Given the description of an element on the screen output the (x, y) to click on. 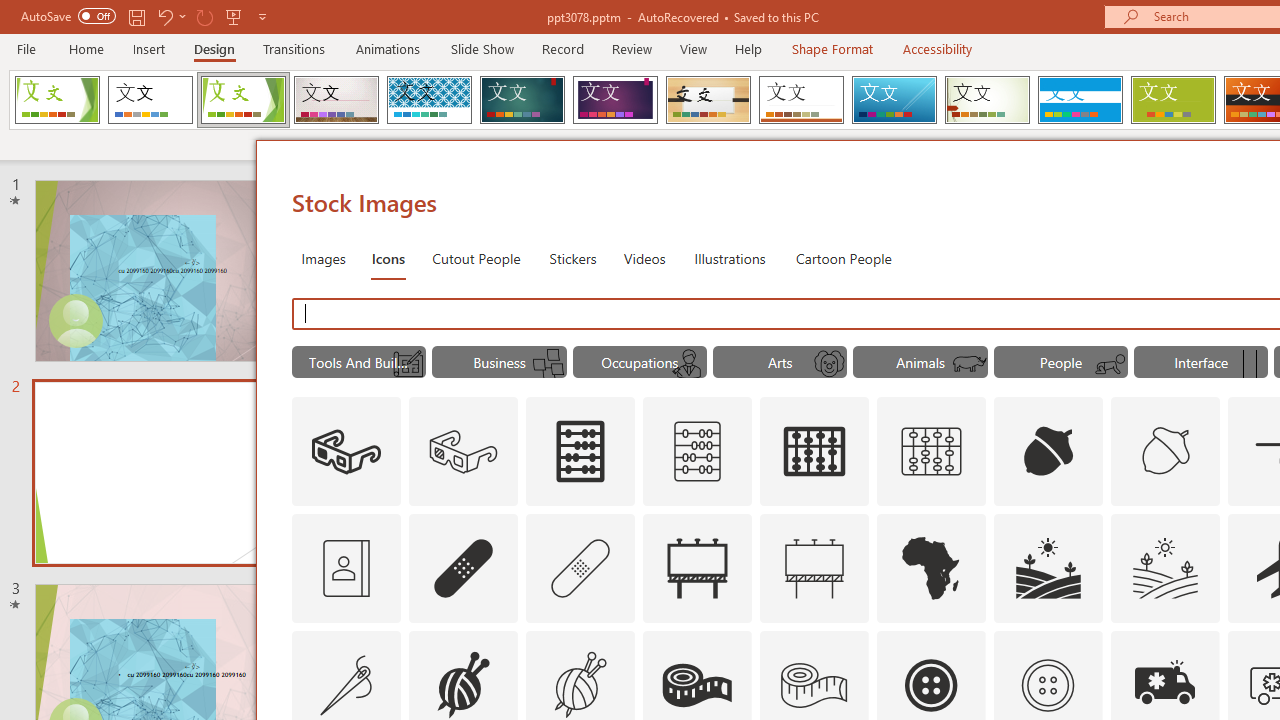
Ion (522, 100)
Wisp (987, 100)
Stickers (573, 258)
Videos (644, 258)
AutomationID: Icons_Advertising (697, 568)
AutomationID: Icons_Clown_M (829, 364)
"Tools And Building" Icons. (358, 362)
"Interface" Icons. (1201, 362)
Images (322, 258)
